Given the description of an element on the screen output the (x, y) to click on. 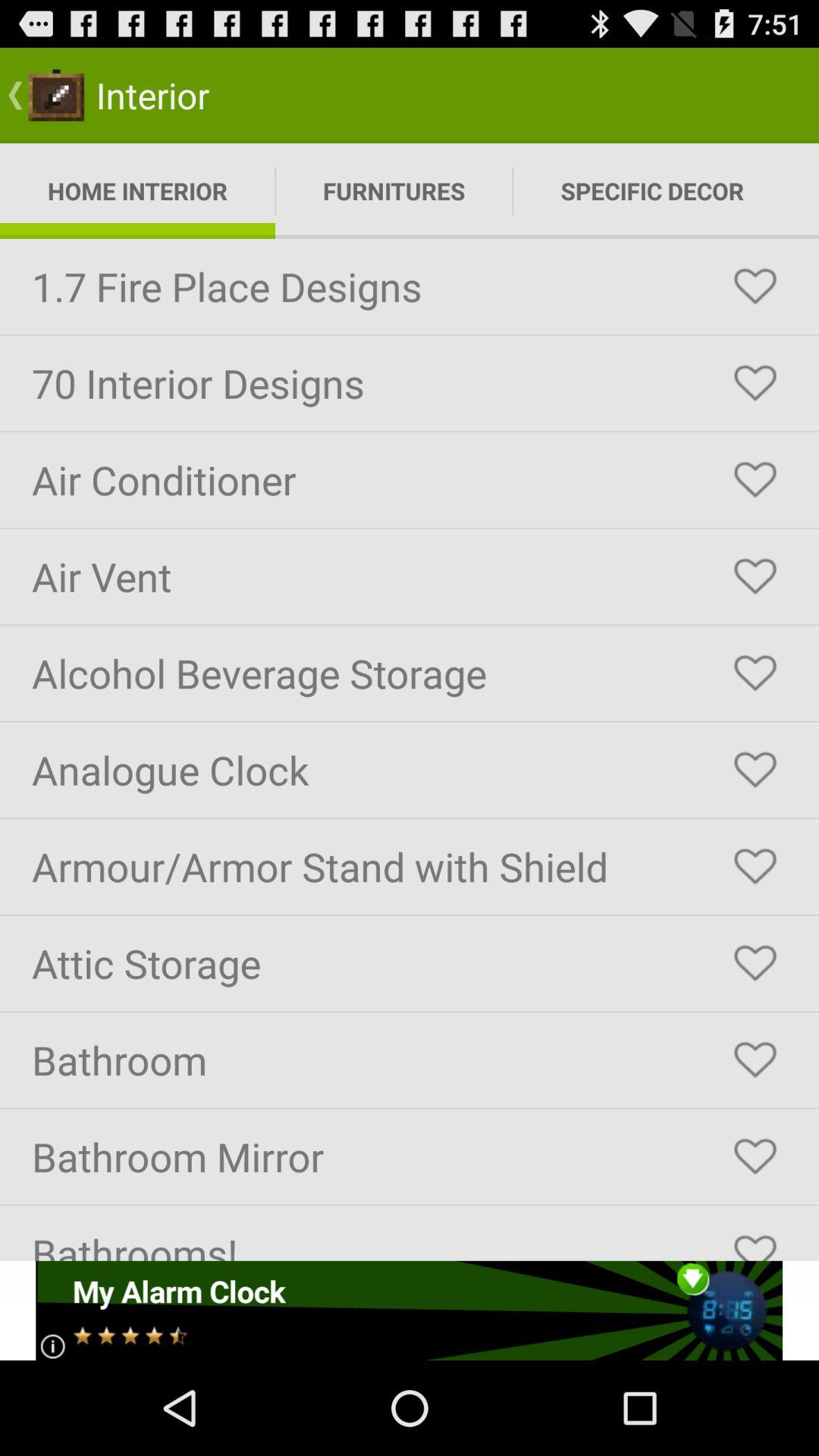
add 70 interior designs to favorites (755, 383)
